Given the description of an element on the screen output the (x, y) to click on. 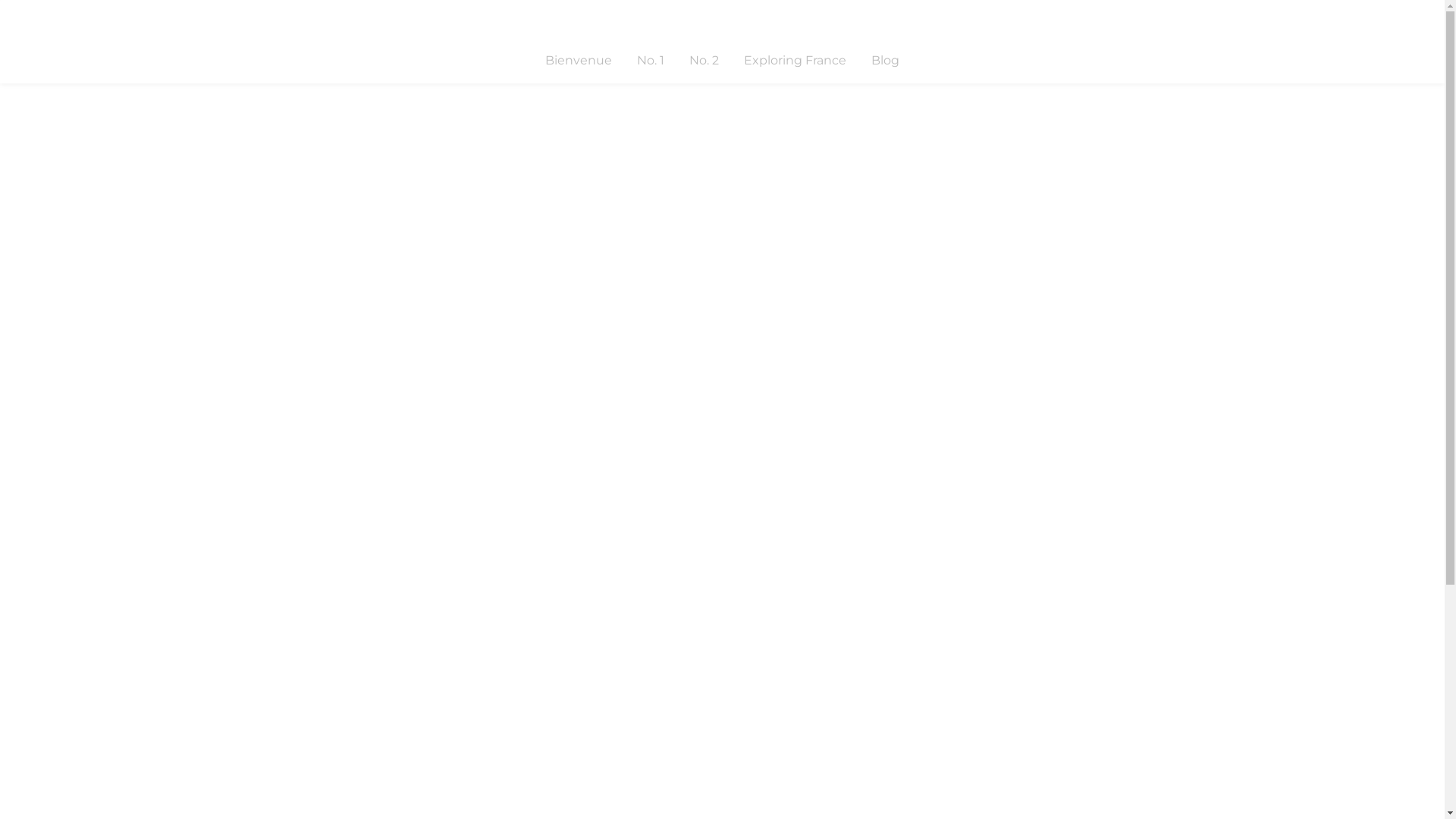
No. 1 Element type: text (650, 60)
Bienvenue Element type: text (578, 60)
Blog Element type: text (884, 60)
Exploring France Element type: text (794, 60)
No. 2 Element type: text (703, 60)
